Given the description of an element on the screen output the (x, y) to click on. 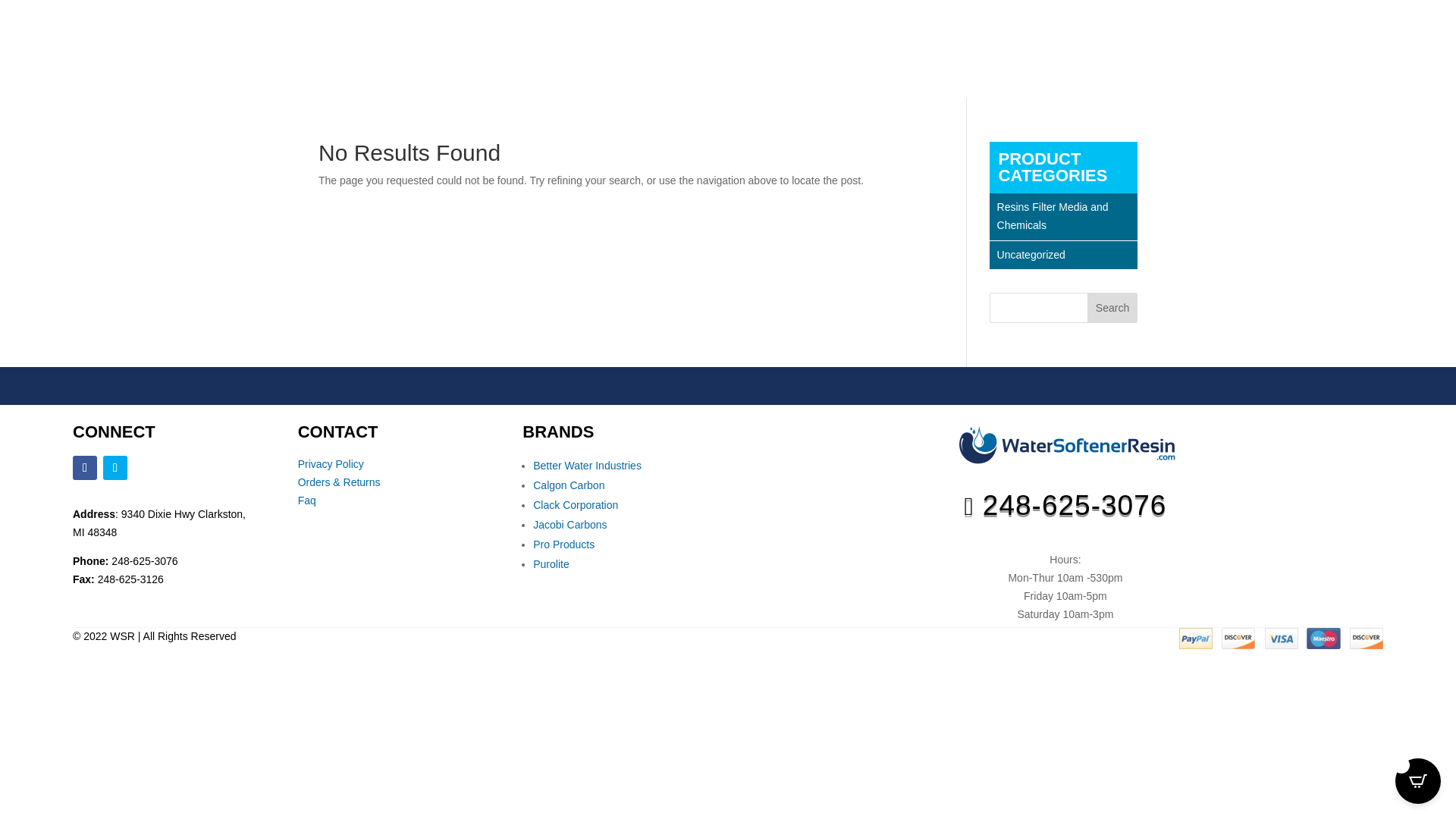
Search (1112, 307)
Follow on Facebook (84, 467)
Follow on Twitter (115, 467)
water-softener-resin-300x58-1 (1065, 445)
